Given the description of an element on the screen output the (x, y) to click on. 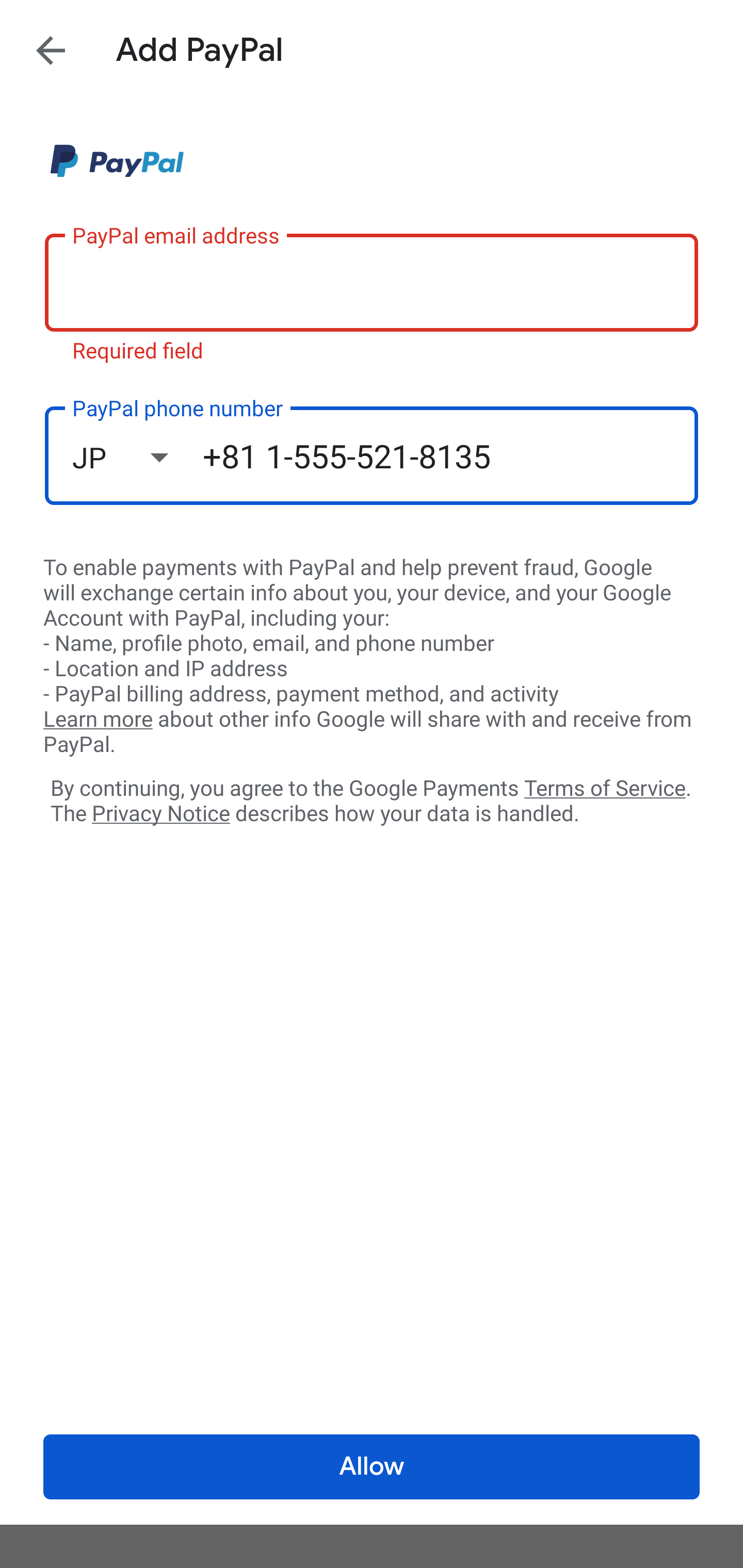
Navigate up (50, 50)
JP (137, 456)
Learn more (97, 719)
Terms of Service (604, 787)
Privacy Notice (160, 814)
Allow (371, 1466)
